Given the description of an element on the screen output the (x, y) to click on. 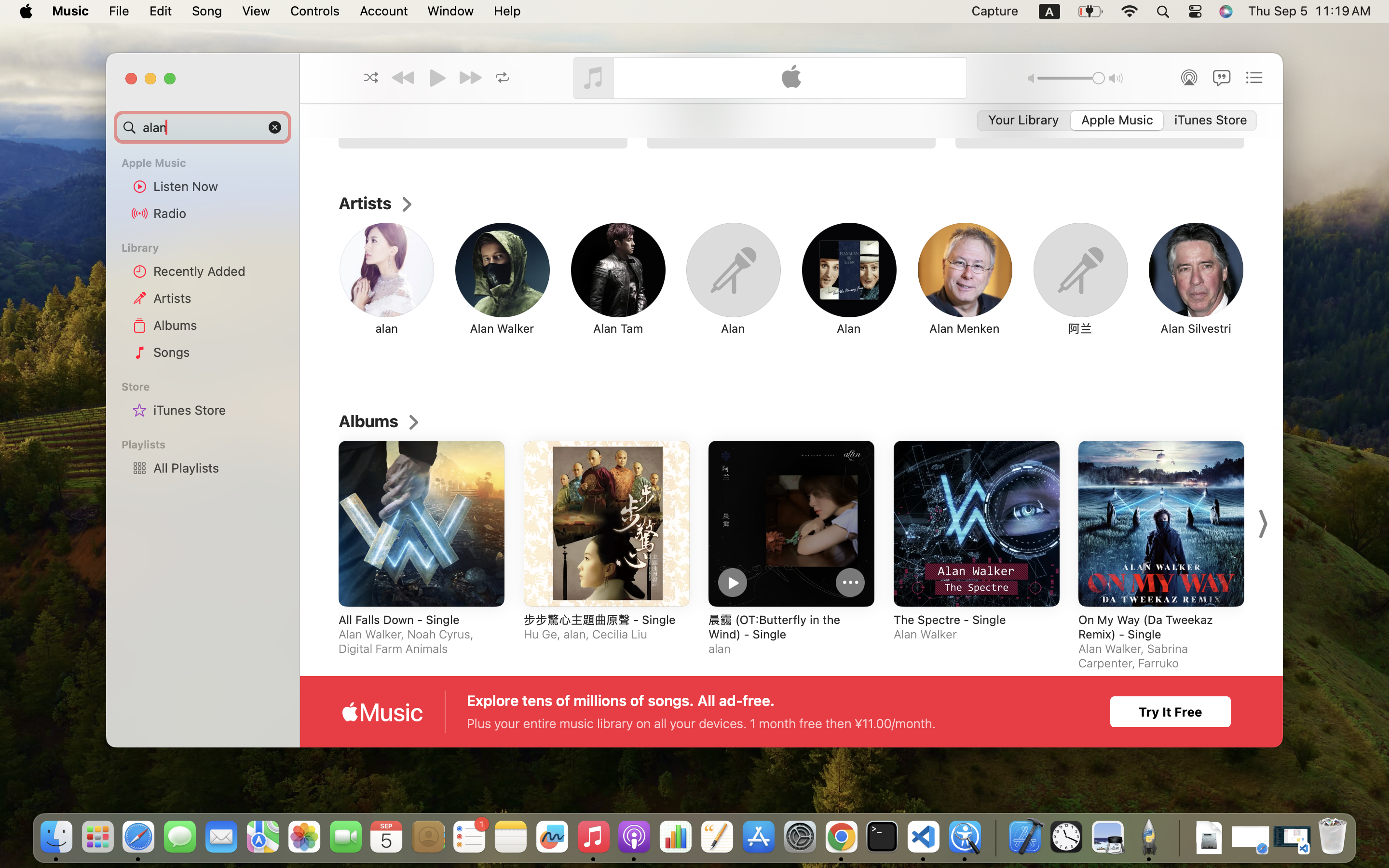
alan Element type: AXTextField (202, 126)
Playlists Element type: AXStaticText (208, 444)
alan Element type: AXStaticText (386, 328)
All Playlists Element type: AXStaticText (217, 467)
alan Element type: AXButton (469, 77)
